Given the description of an element on the screen output the (x, y) to click on. 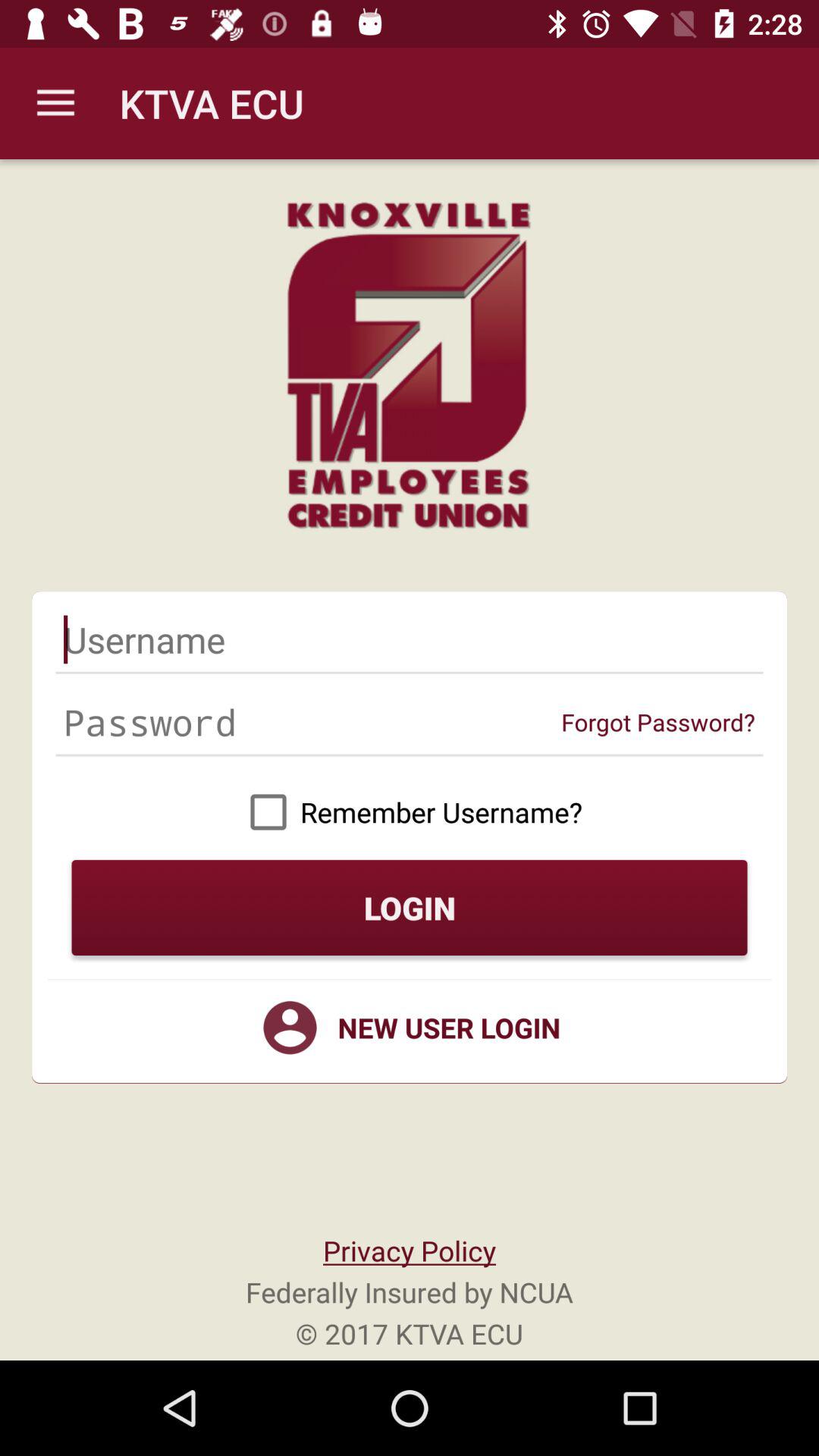
username (409, 639)
